Given the description of an element on the screen output the (x, y) to click on. 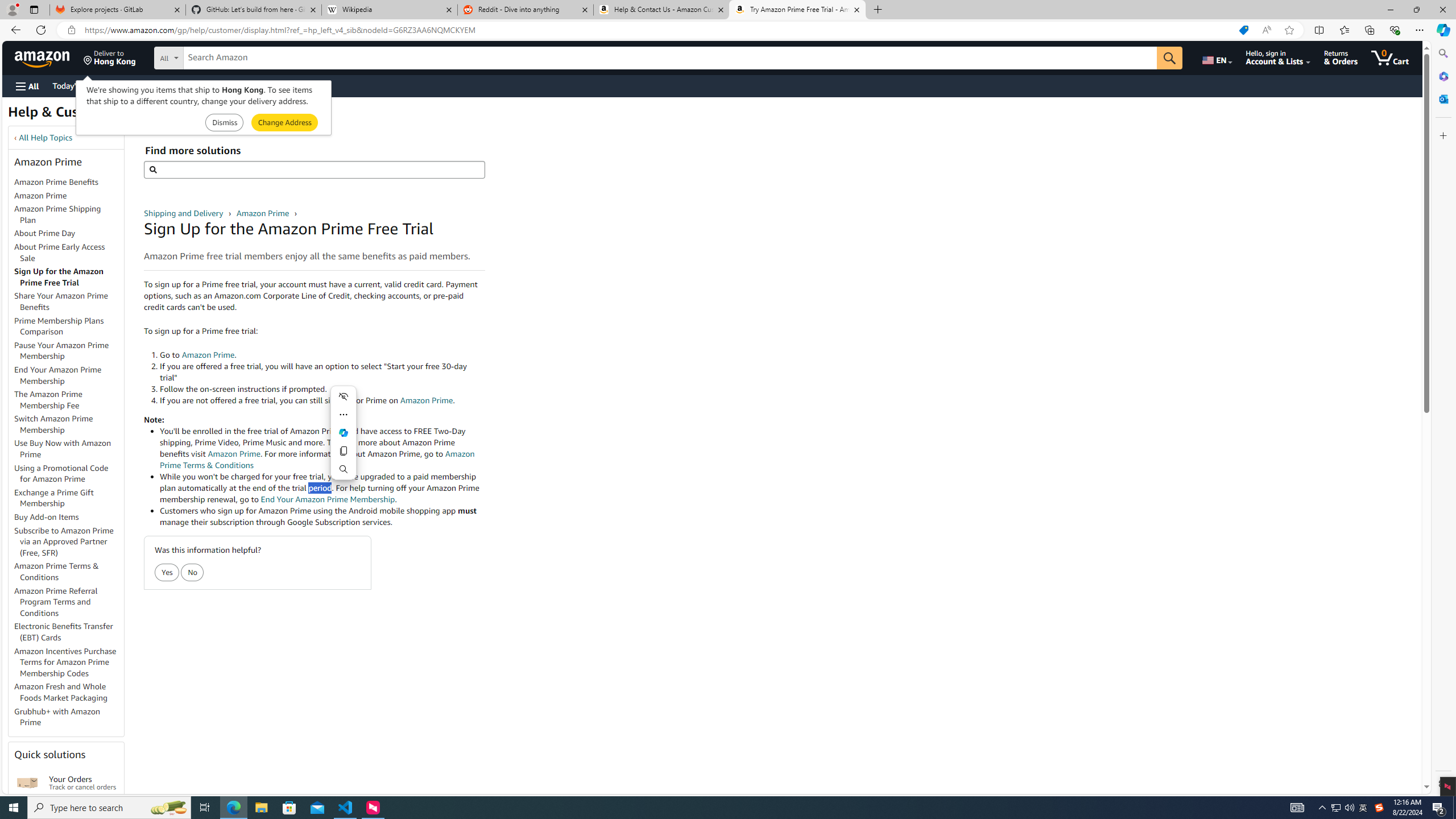
Amazon Prime Terms & Conditions (68, 572)
Buy Add-on Items (68, 517)
Try Amazon Prime Free Trial - Amazon Customer Service (797, 9)
End Your Amazon Prime Membership (68, 375)
Exchange a Prime Gift Membership (68, 498)
Search Amazon (670, 57)
Switch Amazon Prime Membership (53, 423)
Customer Service (145, 85)
Help & Customer Service (87, 114)
